Given the description of an element on the screen output the (x, y) to click on. 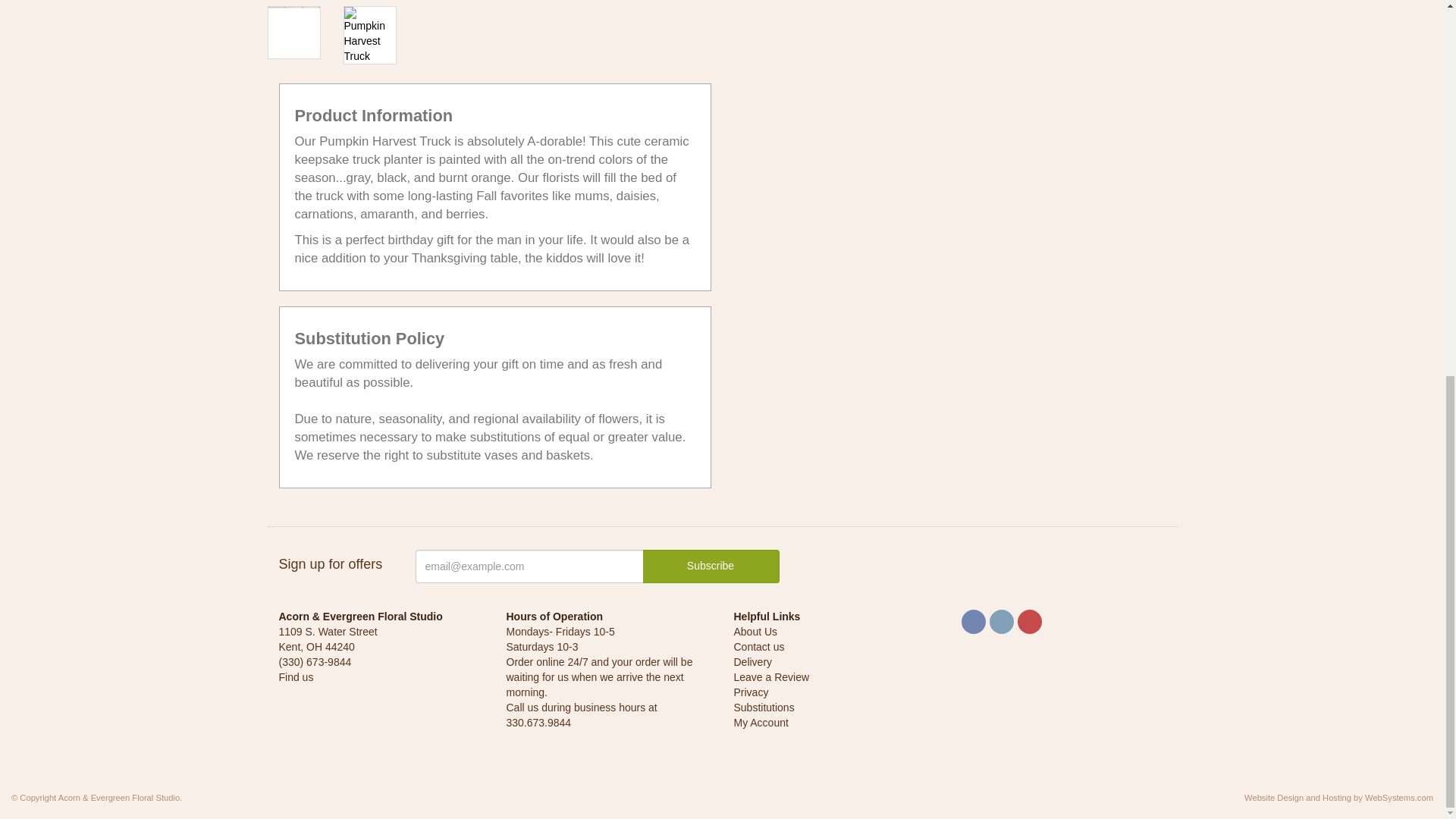
Find us (296, 676)
Substitutions (763, 707)
Subscribe (710, 566)
Privacy (750, 692)
Contact us (758, 646)
Delivery (753, 662)
Subscribe (710, 566)
My Account (761, 722)
About Us (755, 631)
Website Design and Hosting by WebSystems.com (1338, 797)
Leave a Review (771, 676)
